Given the description of an element on the screen output the (x, y) to click on. 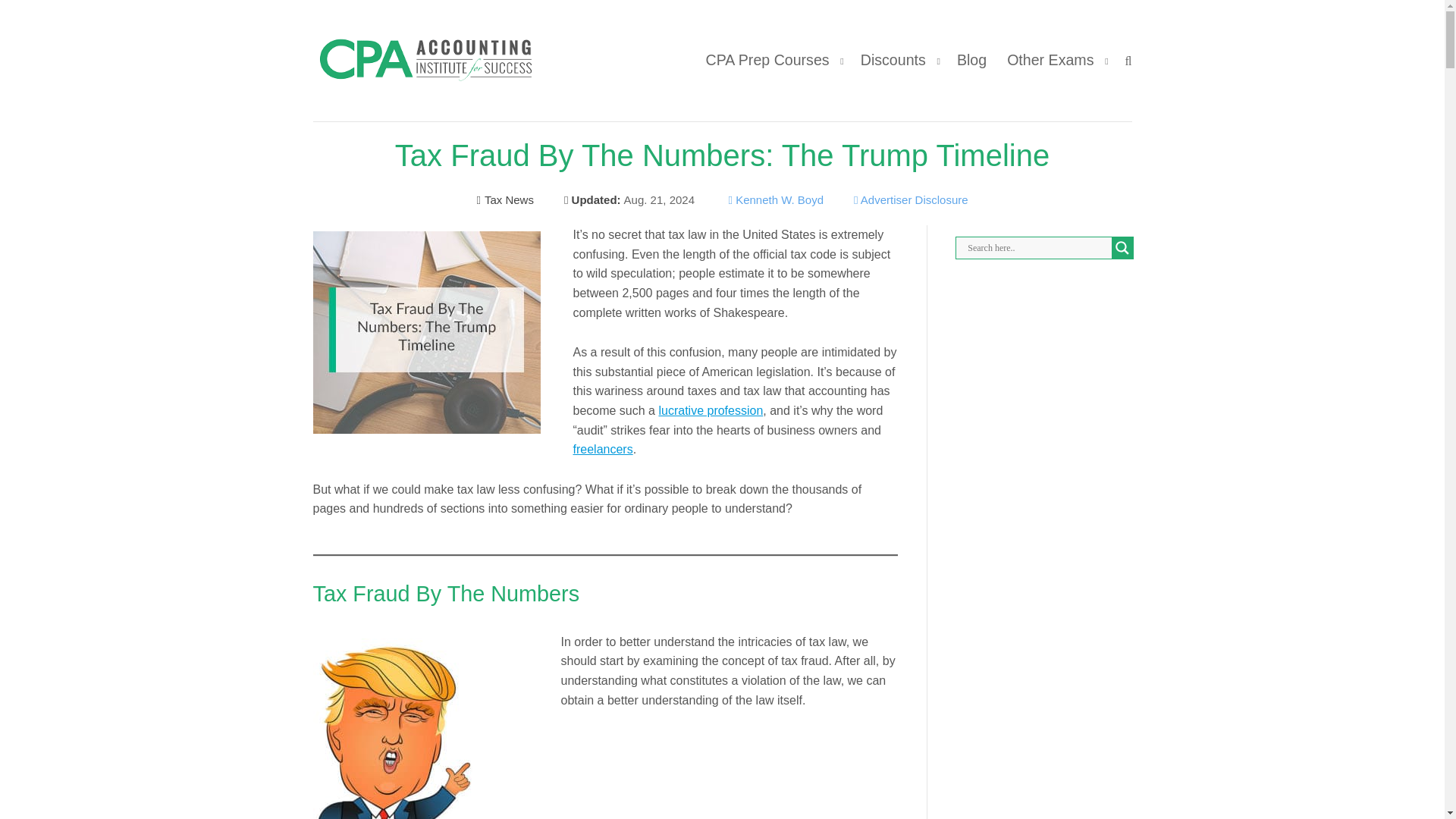
Other Exams (1050, 59)
Kenneth W. Boyd (779, 199)
CPA Prep Courses (767, 59)
Discounts (893, 59)
lucrative profession (710, 410)
Blog (971, 59)
freelancers (603, 449)
Tax News (505, 199)
